Given the description of an element on the screen output the (x, y) to click on. 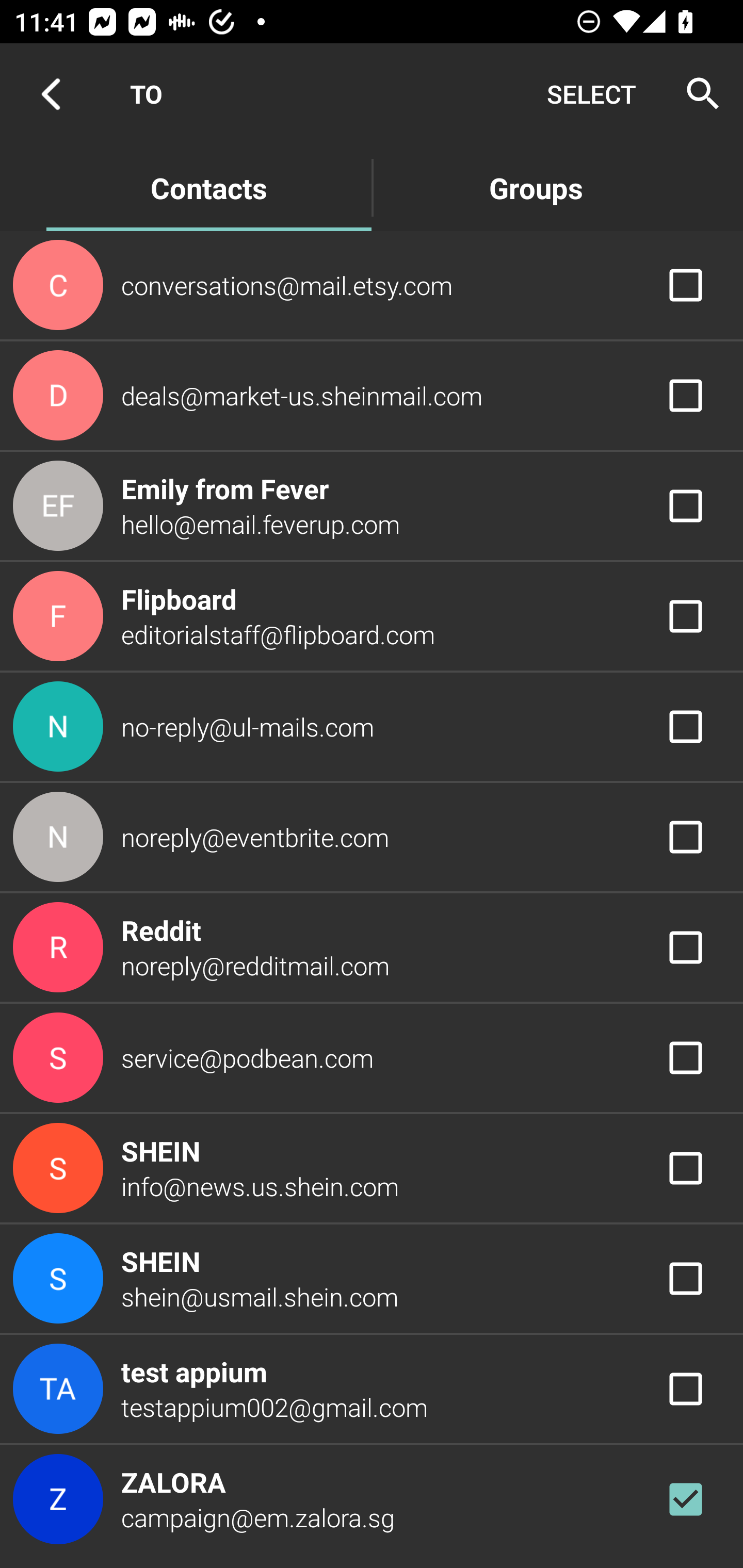
Navigate up (50, 93)
SELECT (590, 93)
Search (696, 93)
Contacts (208, 187)
Groups (535, 187)
conversations@mail.etsy.com (371, 284)
deals@market-us.sheinmail.com (371, 395)
Emily from Fever hello@email.feverup.com (371, 505)
Flipboard editorialstaff@flipboard.com (371, 616)
no-reply@ul-mails.com (371, 726)
noreply@eventbrite.com (371, 836)
Reddit noreply@redditmail.com (371, 947)
service@podbean.com (371, 1057)
SHEIN info@news.us.shein.com (371, 1168)
SHEIN shein@usmail.shein.com (371, 1278)
test appium testappium002@gmail.com (371, 1388)
ZALORA campaign@em.zalora.sg (371, 1499)
